Given the description of an element on the screen output the (x, y) to click on. 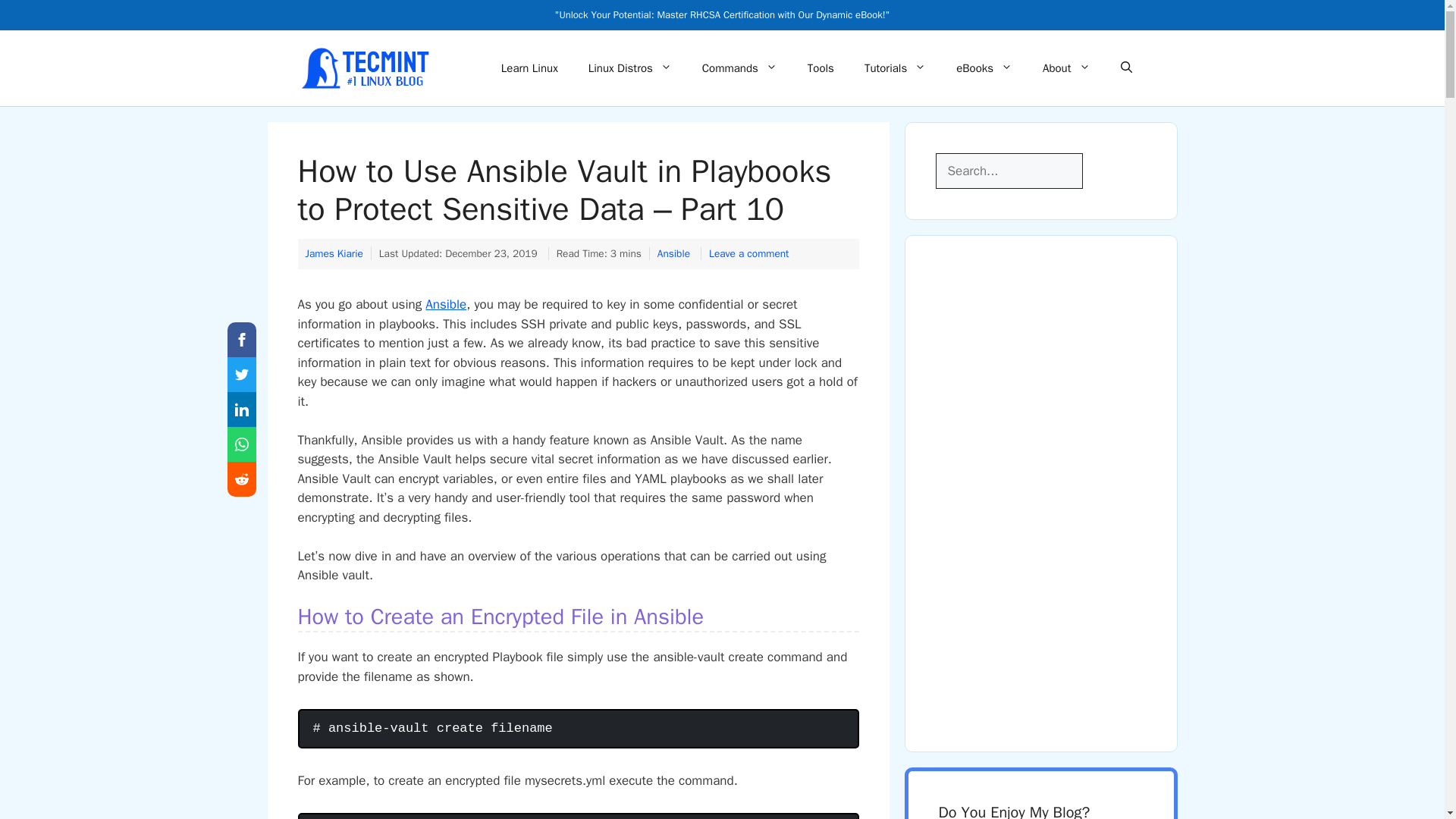
Commands (739, 67)
Start Learning Linux (529, 67)
Linux Distributions (630, 67)
Linux Distros (630, 67)
Learn Linux (529, 67)
Tools (820, 67)
Tutorials (894, 67)
